Given the description of an element on the screen output the (x, y) to click on. 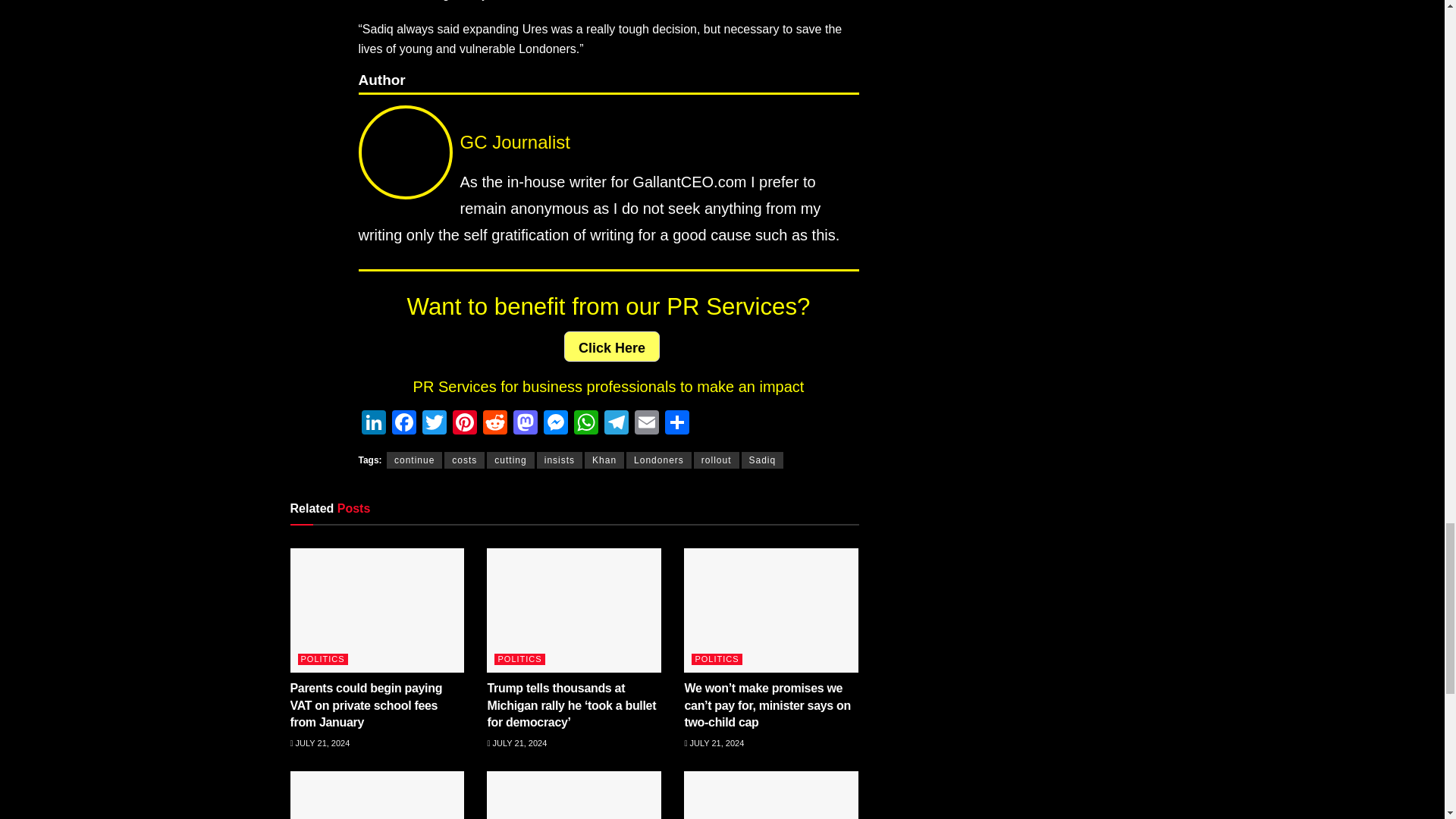
Click Here (611, 346)
